Given the description of an element on the screen output the (x, y) to click on. 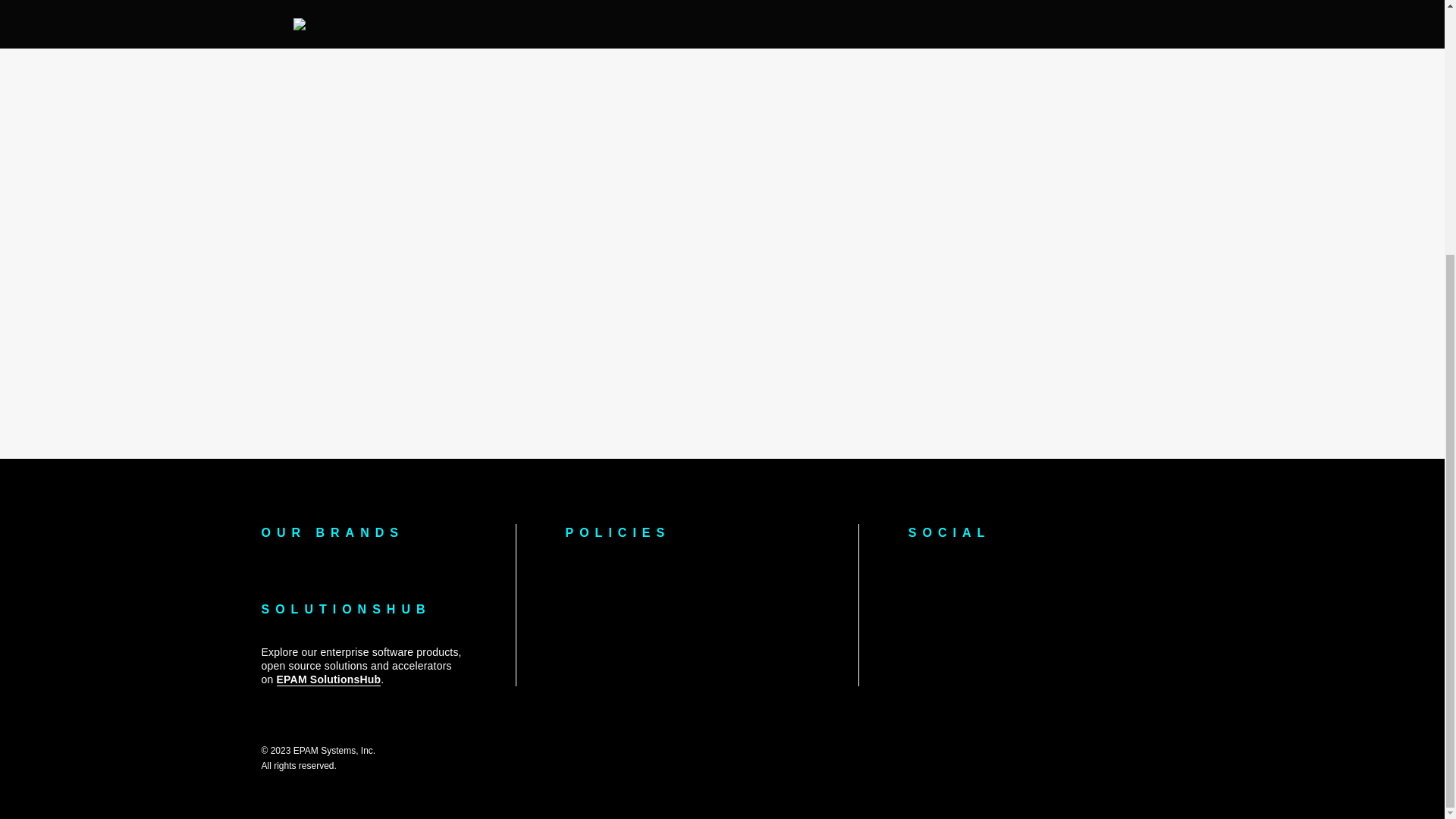
EPAM SolutionsHub (328, 679)
